Given the description of an element on the screen output the (x, y) to click on. 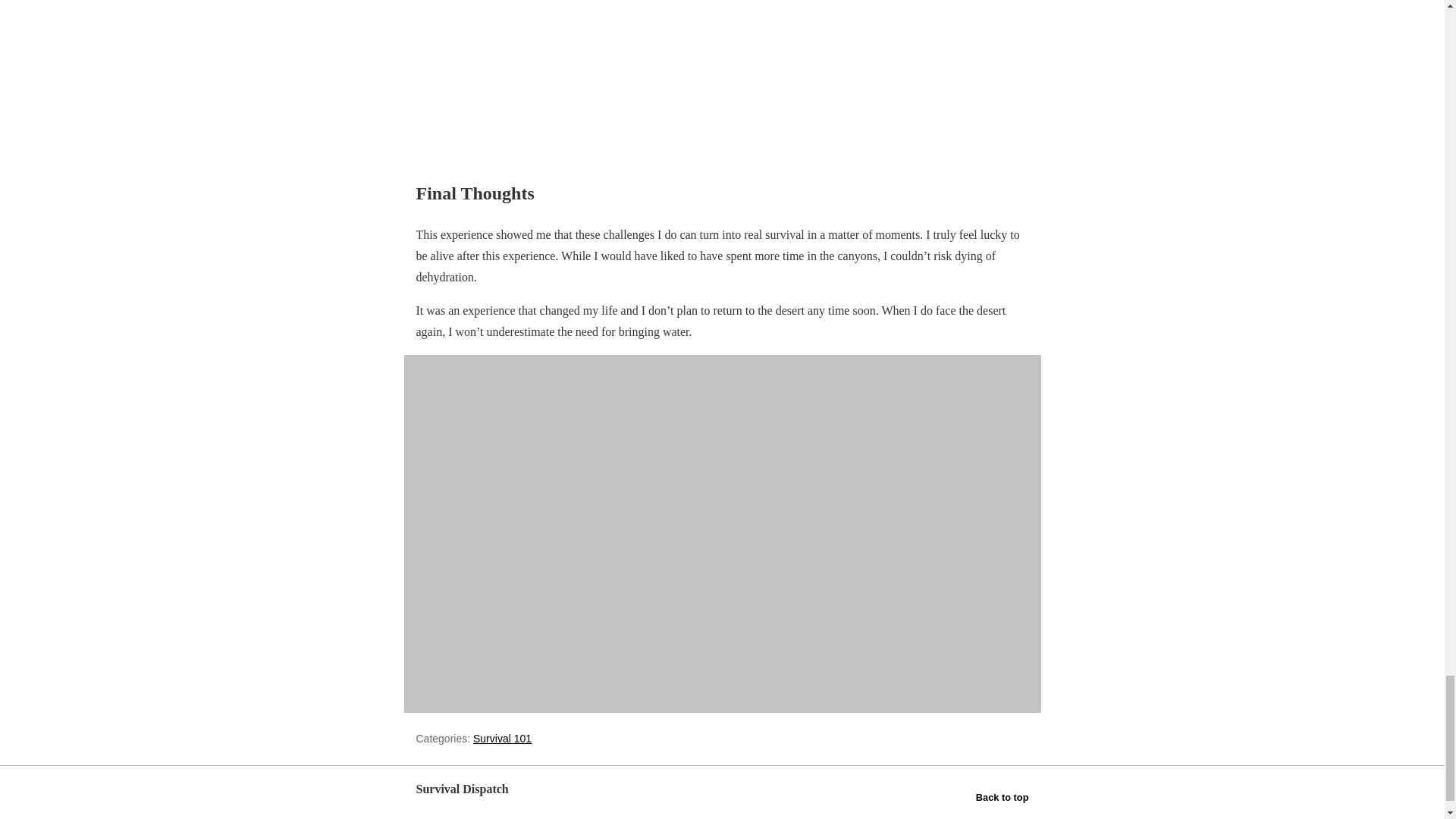
Survival 101 (502, 738)
Back to top (1002, 796)
